Given the description of an element on the screen output the (x, y) to click on. 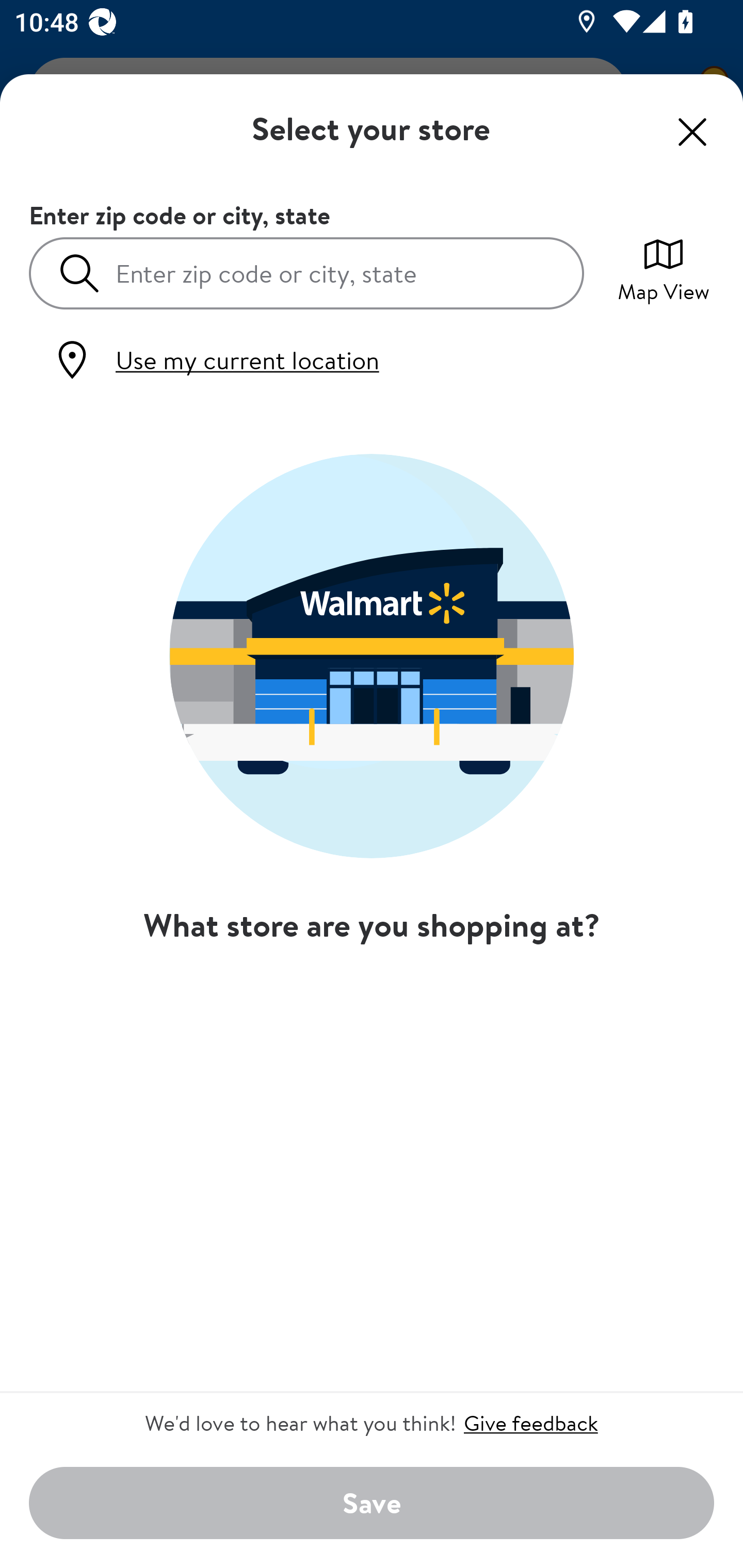
Close (692, 131)
Map View Switch to map view (663, 268)
Enter zip code or city, state (305, 272)
Use my current location (214, 359)
Give feedback (530, 1422)
Save (371, 1503)
